Given the description of an element on the screen output the (x, y) to click on. 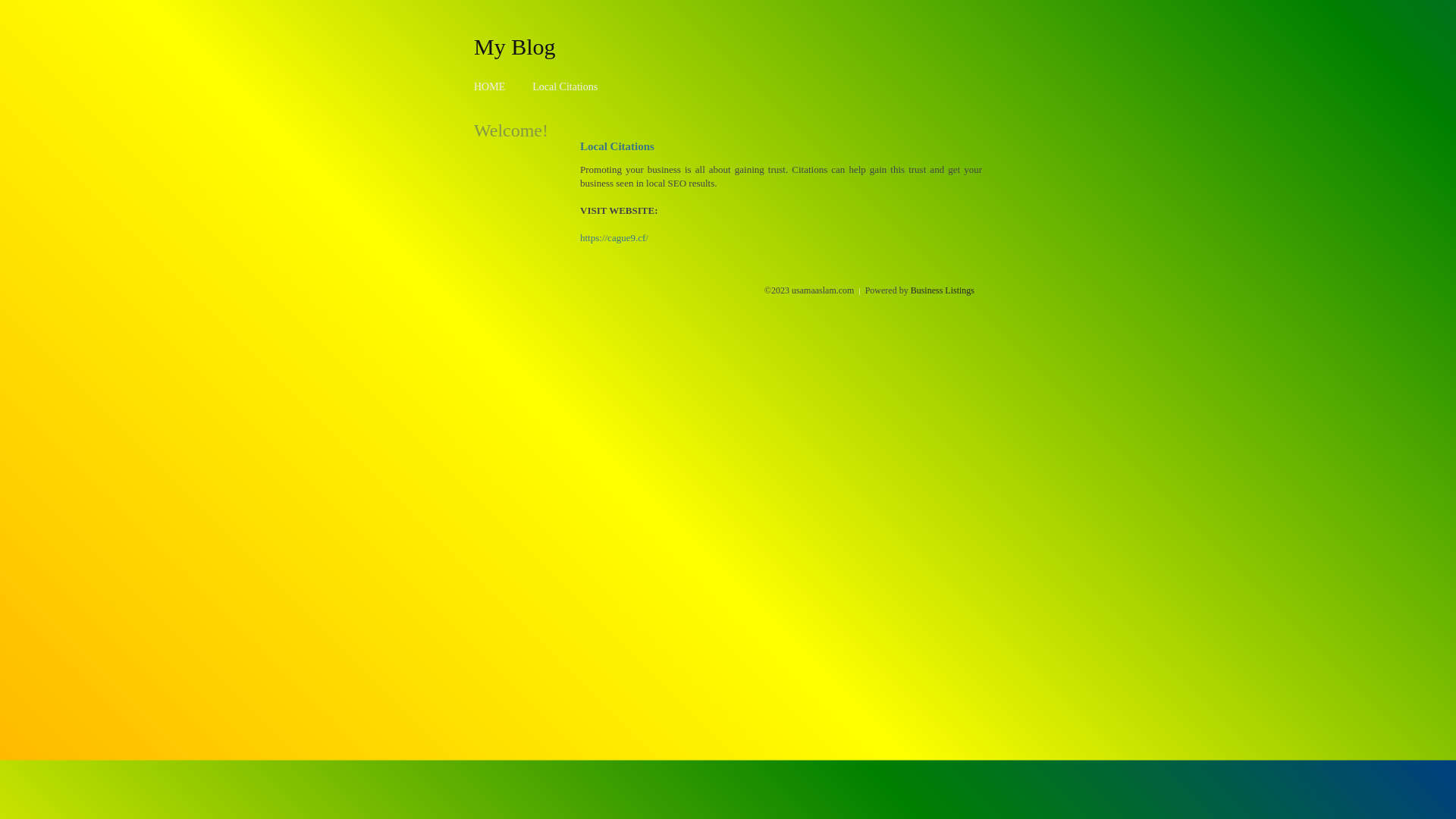
Business Listings Element type: text (942, 290)
My Blog Element type: text (514, 46)
https://cague9.cf/ Element type: text (614, 237)
Local Citations Element type: text (564, 86)
HOME Element type: text (489, 86)
